Given the description of an element on the screen output the (x, y) to click on. 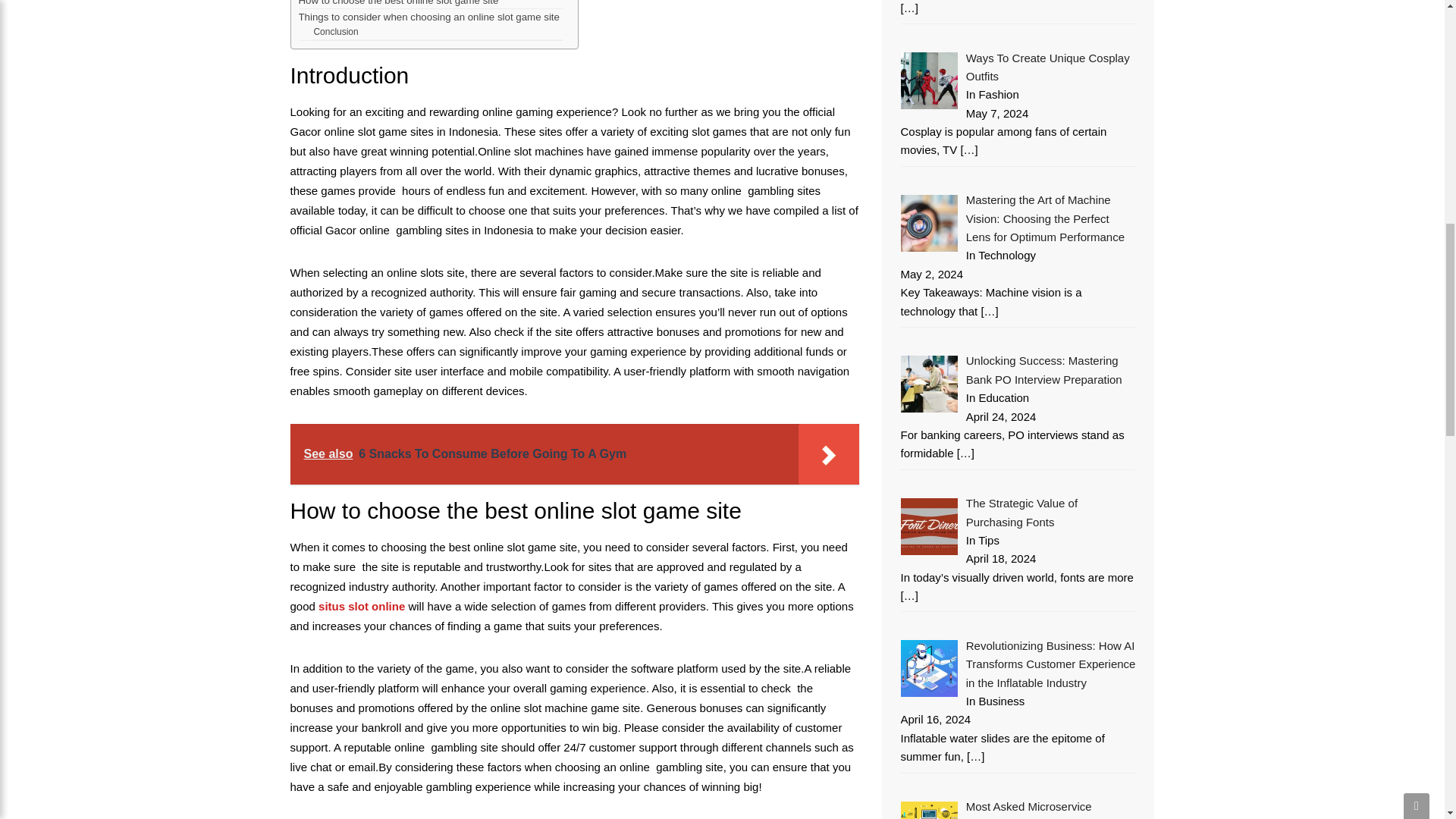
Conclusion (335, 32)
situs slot online (361, 605)
How to choose the best online slot game site  (400, 4)
See also  6 Snacks To Consume Before Going To A Gym (574, 454)
Things to consider when choosing an online slot game site  (430, 17)
Conclusion (335, 32)
